Given the description of an element on the screen output the (x, y) to click on. 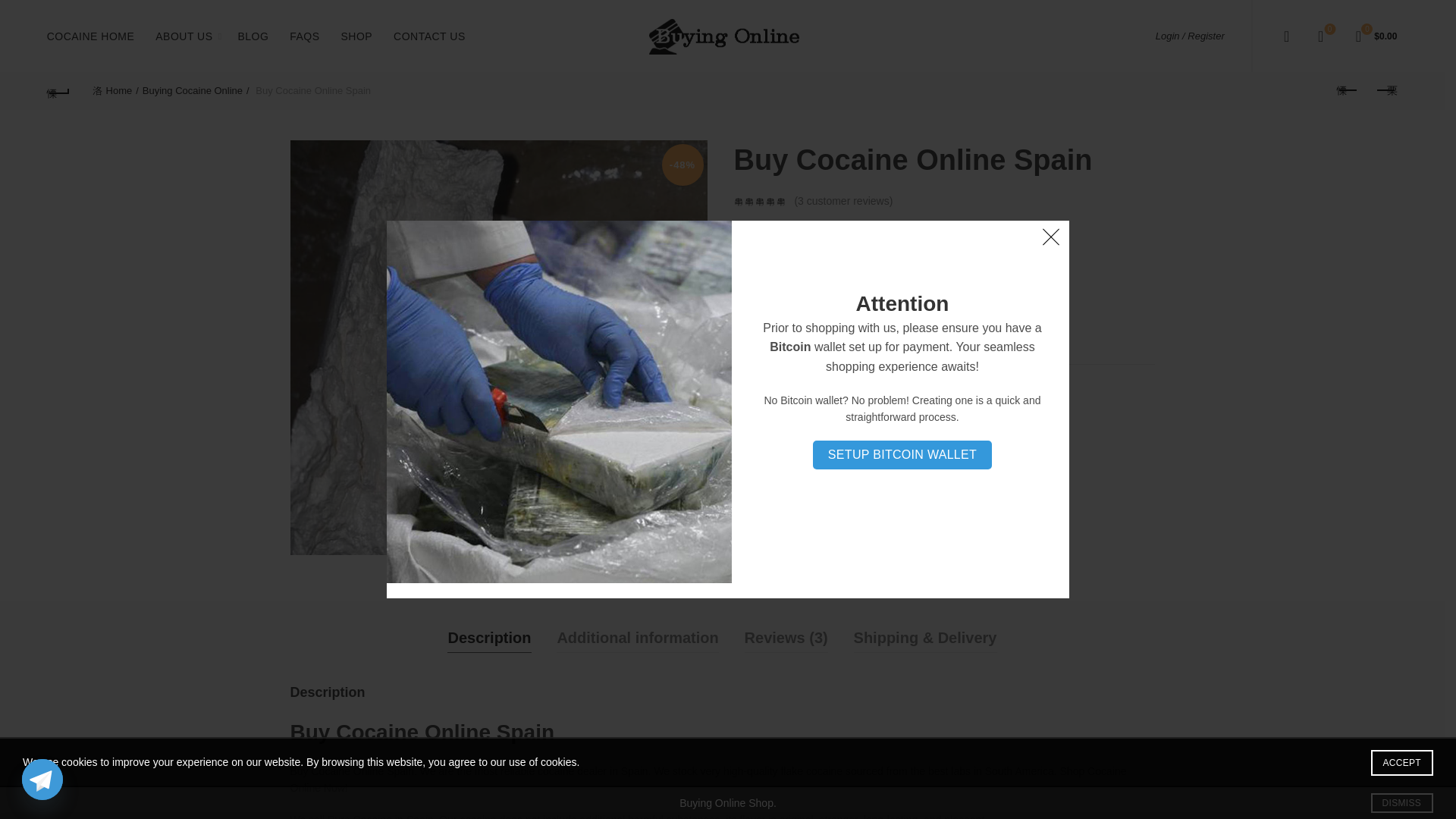
SETUP BITCOIN WALLET (901, 454)
BLOG (252, 35)
Qty (763, 329)
- (741, 329)
Buying Cocaine Online (1320, 35)
SHOP (195, 90)
Previous product (355, 35)
FAQS (1347, 91)
Back (304, 35)
CONTACT US (59, 91)
COCAINE HOME (430, 35)
ABOUT US (90, 35)
1 (183, 35)
